Given the description of an element on the screen output the (x, y) to click on. 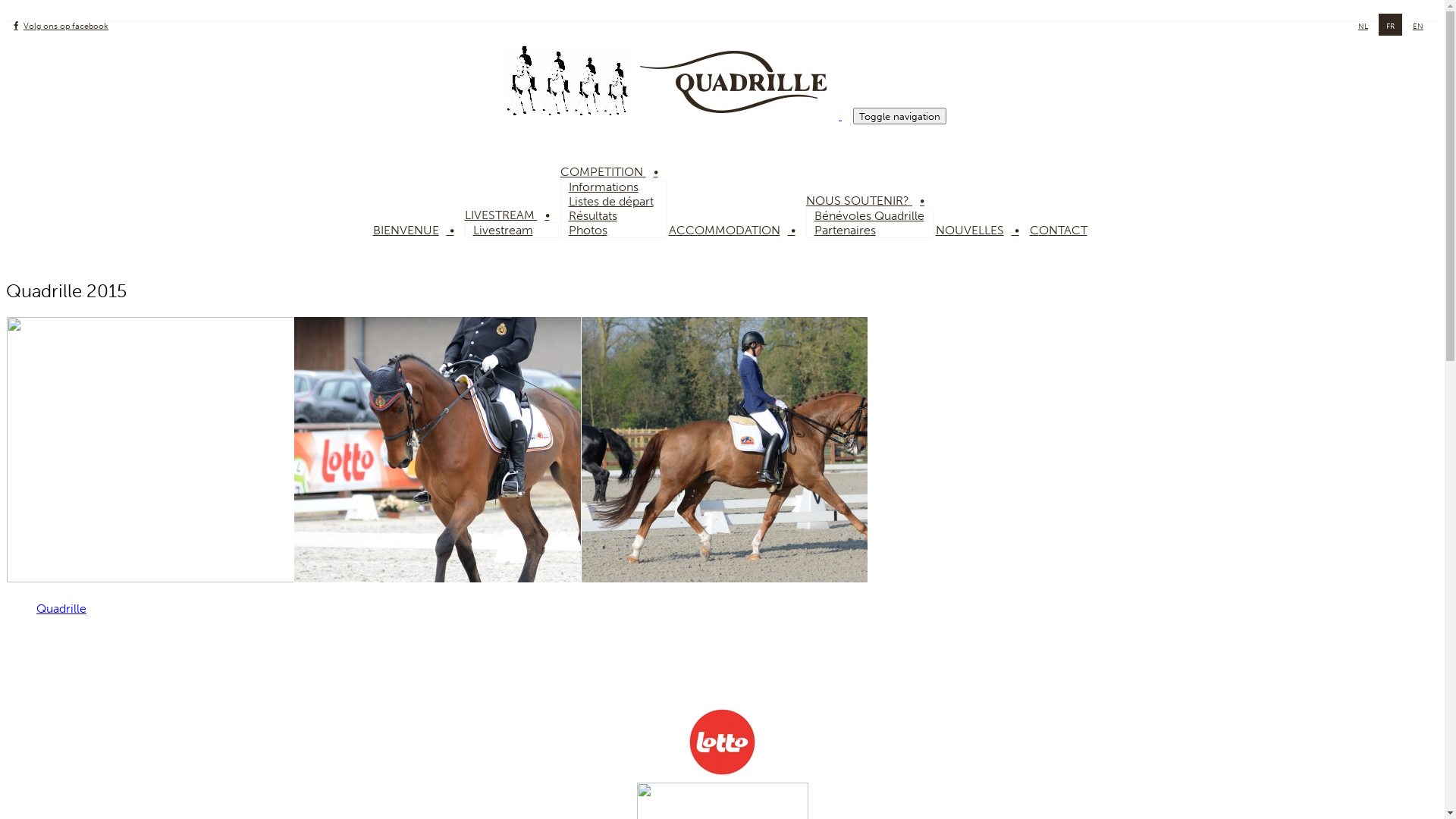
LIVESTREAM Element type: text (510, 214)
Quadrille Element type: text (61, 608)
COMPETITION Element type: text (612, 171)
Informations Element type: text (603, 186)
Toggle navigation Element type: text (899, 115)
Livestream Element type: text (502, 229)
NOUVELLES Element type: text (980, 229)
Quadrille 2015 Element type: hover (195, 578)
FR Element type: text (1390, 26)
Accueil Element type: hover (675, 115)
Volg ons op facebook Element type: text (60, 26)
EN Element type: text (1417, 26)
Photos Element type: text (588, 229)
NL Element type: text (1363, 26)
CONTACT Element type: text (1065, 229)
BIENVENUE Element type: text (417, 229)
Partenaires Element type: text (844, 229)
Aller au contenu principal Element type: text (6, 6)
NOUS SOUTENIR? Element type: text (868, 200)
Quadrille 2015 Element type: hover (483, 578)
Quadrille 2015 Element type: hover (770, 578)
ACCOMMODATION Element type: text (735, 229)
